Given the description of an element on the screen output the (x, y) to click on. 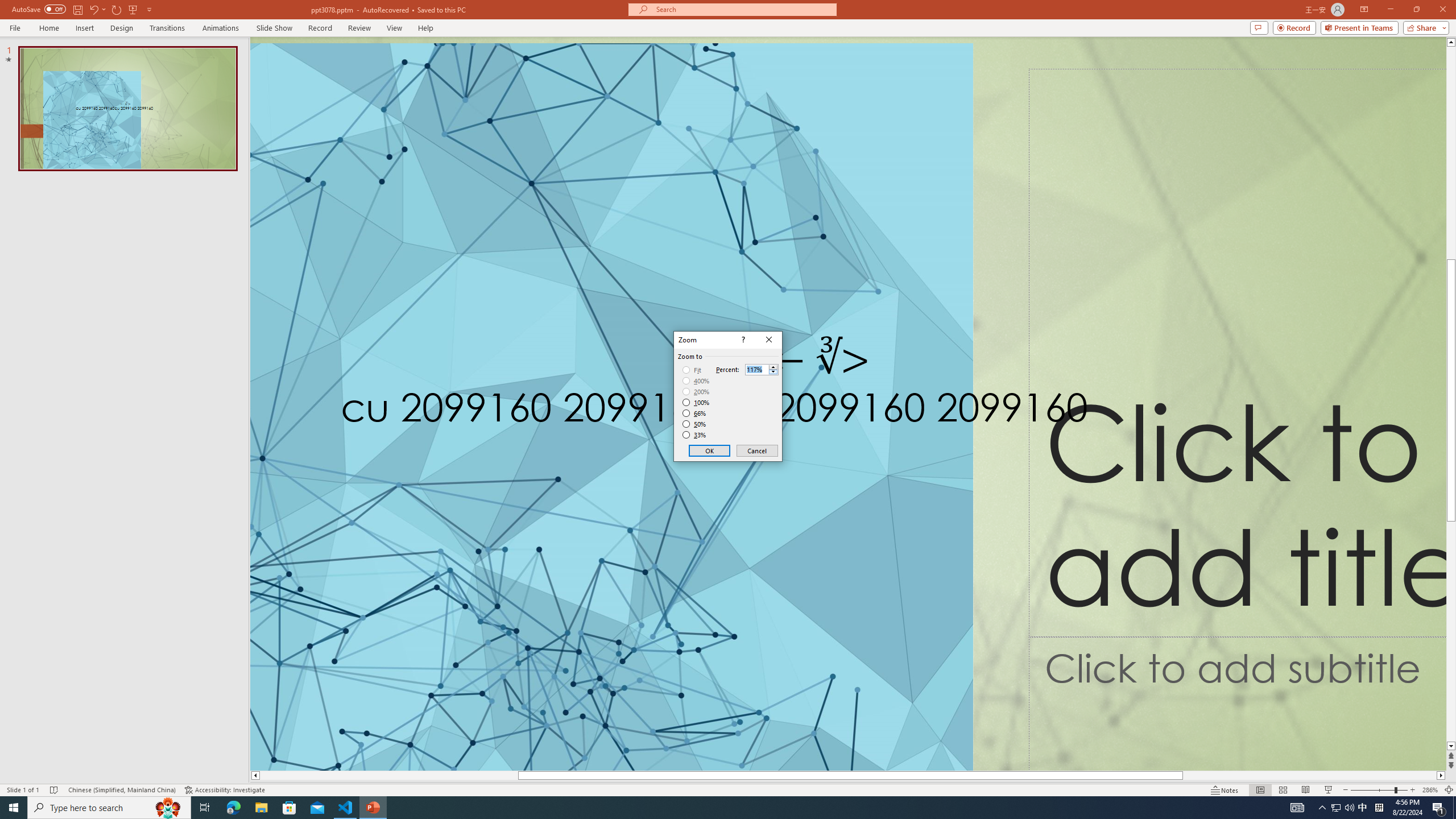
Zoom 286% (1430, 790)
